Given the description of an element on the screen output the (x, y) to click on. 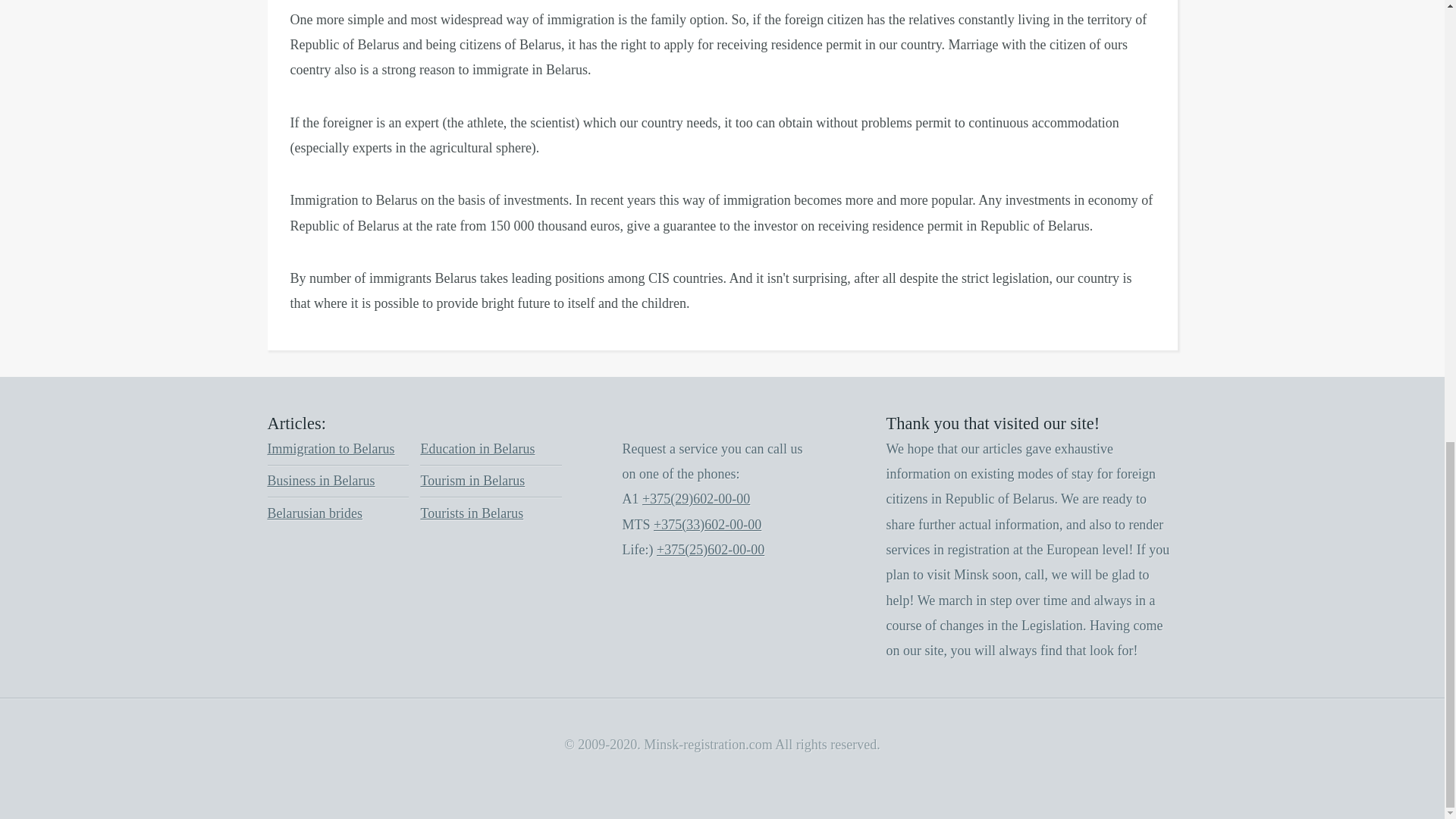
Education in Belarus (477, 448)
Tourism in Belarus (472, 480)
Tourists in Belarus (471, 513)
Business in Belarus (320, 480)
Immigration to Belarus (330, 448)
Belarusian brides (313, 513)
